Given the description of an element on the screen output the (x, y) to click on. 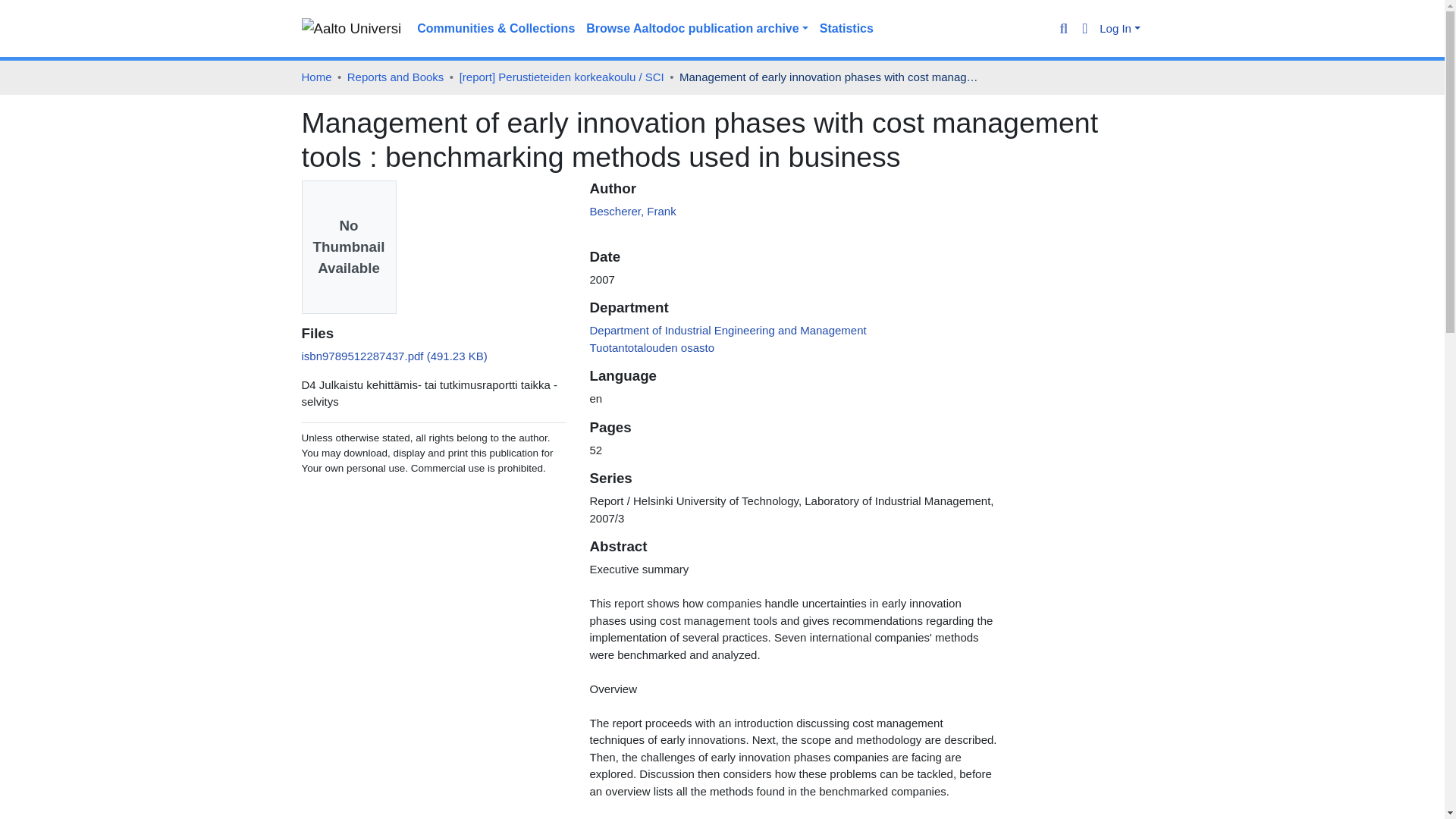
Browse Aaltodoc publication archive (696, 28)
Tuotantotalouden osasto (651, 347)
Search (1063, 28)
Statistics (846, 28)
Department of Industrial Engineering and Management (727, 329)
Language switch (1085, 28)
Statistics (846, 28)
Reports and Books (395, 77)
Bescherer, Frank (632, 210)
Log In (1119, 28)
Home (316, 77)
